Given the description of an element on the screen output the (x, y) to click on. 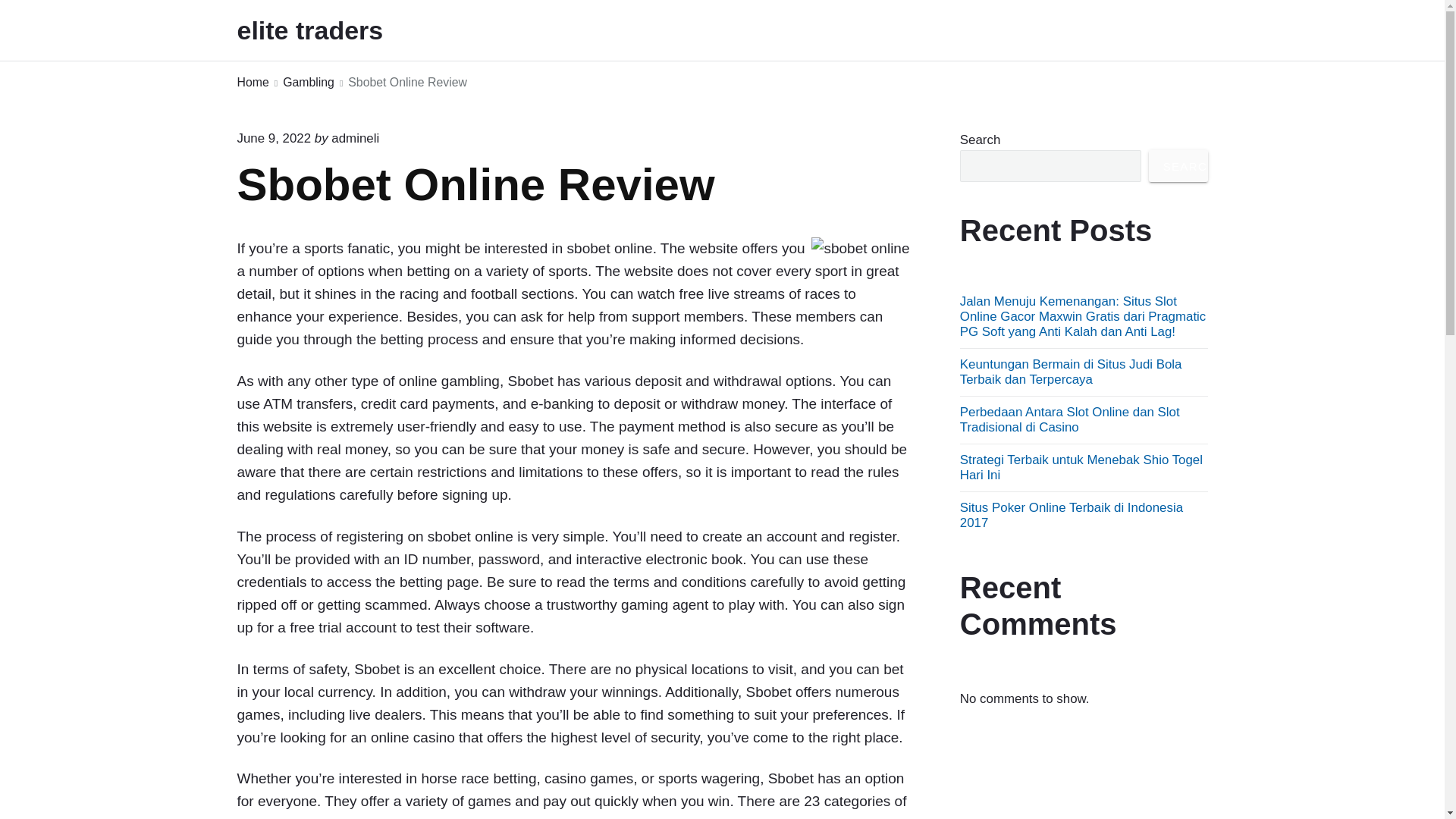
elite traders (330, 30)
SEARCH (1178, 165)
Posts by admineli (354, 138)
Home (251, 82)
Gambling (308, 82)
Perbedaan Antara Slot Online dan Slot Tradisional di Casino (1069, 419)
Strategi Terbaik untuk Menebak Shio Togel Hari Ini (1080, 467)
Thursday, June 9, 2022, 4:45 am (273, 138)
Keuntungan Bermain di Situs Judi Bola Terbaik dan Terpercaya (1070, 371)
